Given the description of an element on the screen output the (x, y) to click on. 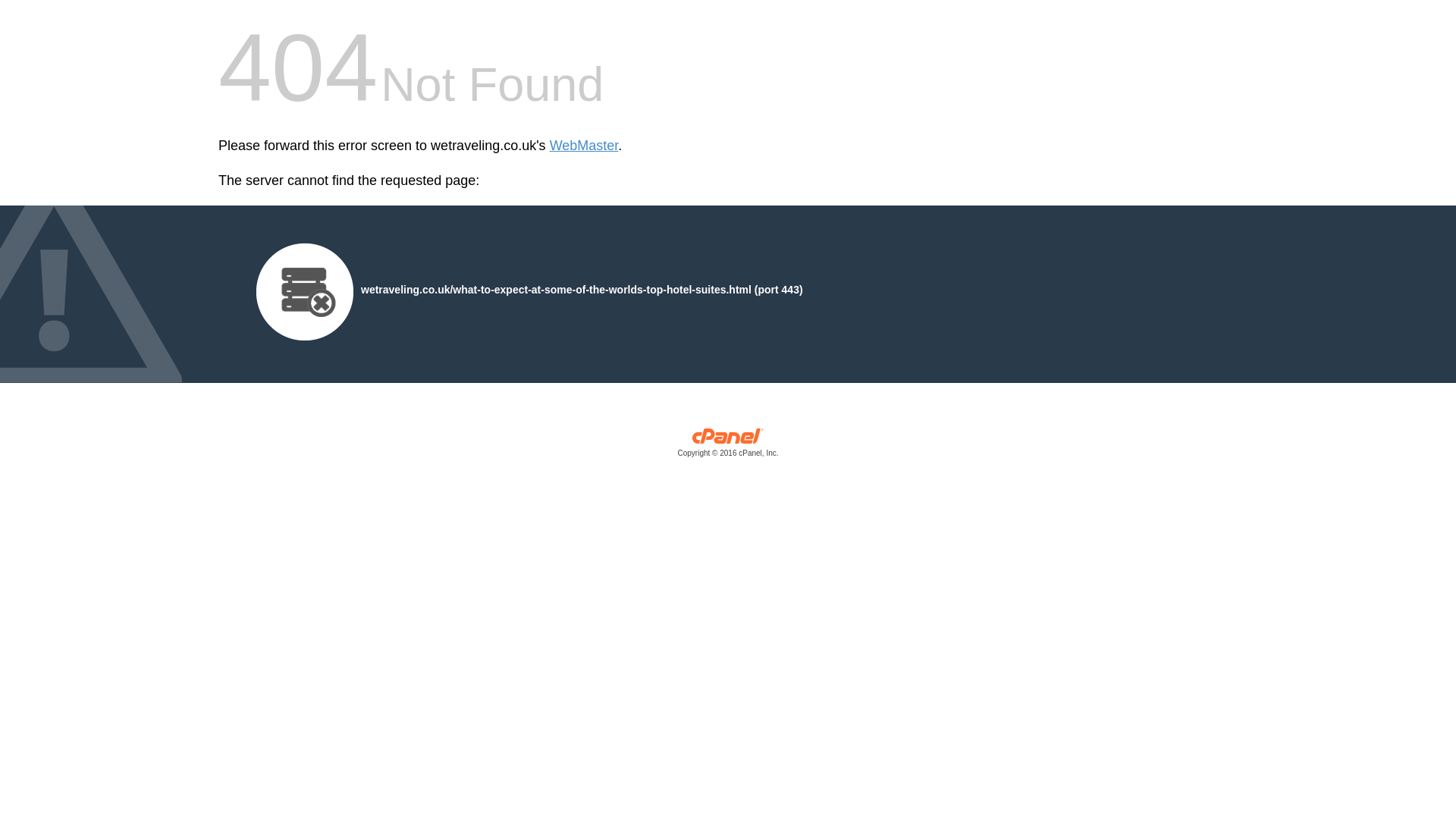
cPanel, Inc. (727, 446)
WebMaster (584, 145)
